Given the description of an element on the screen output the (x, y) to click on. 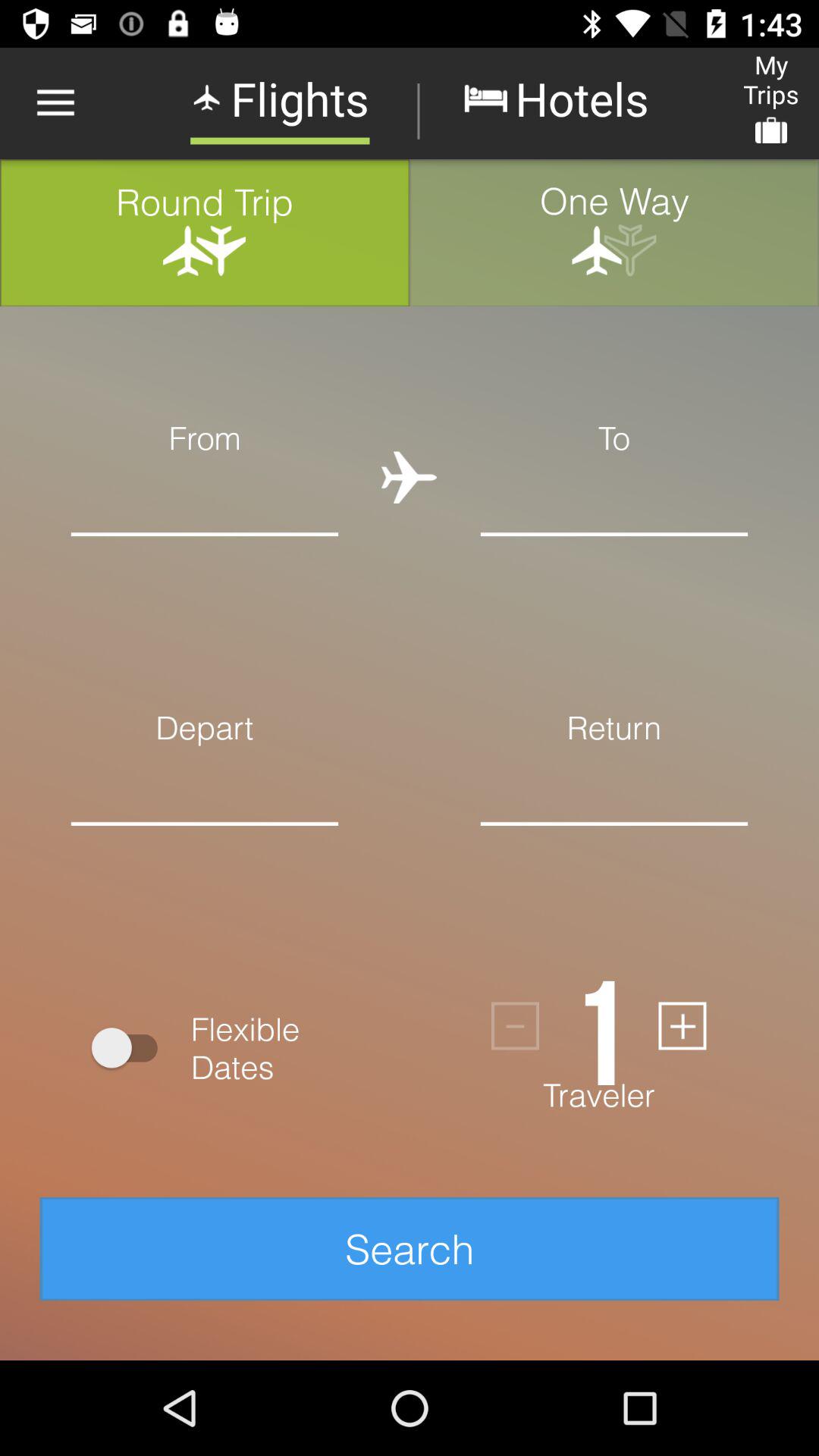
press the icon below the to icon (613, 496)
